Given the description of an element on the screen output the (x, y) to click on. 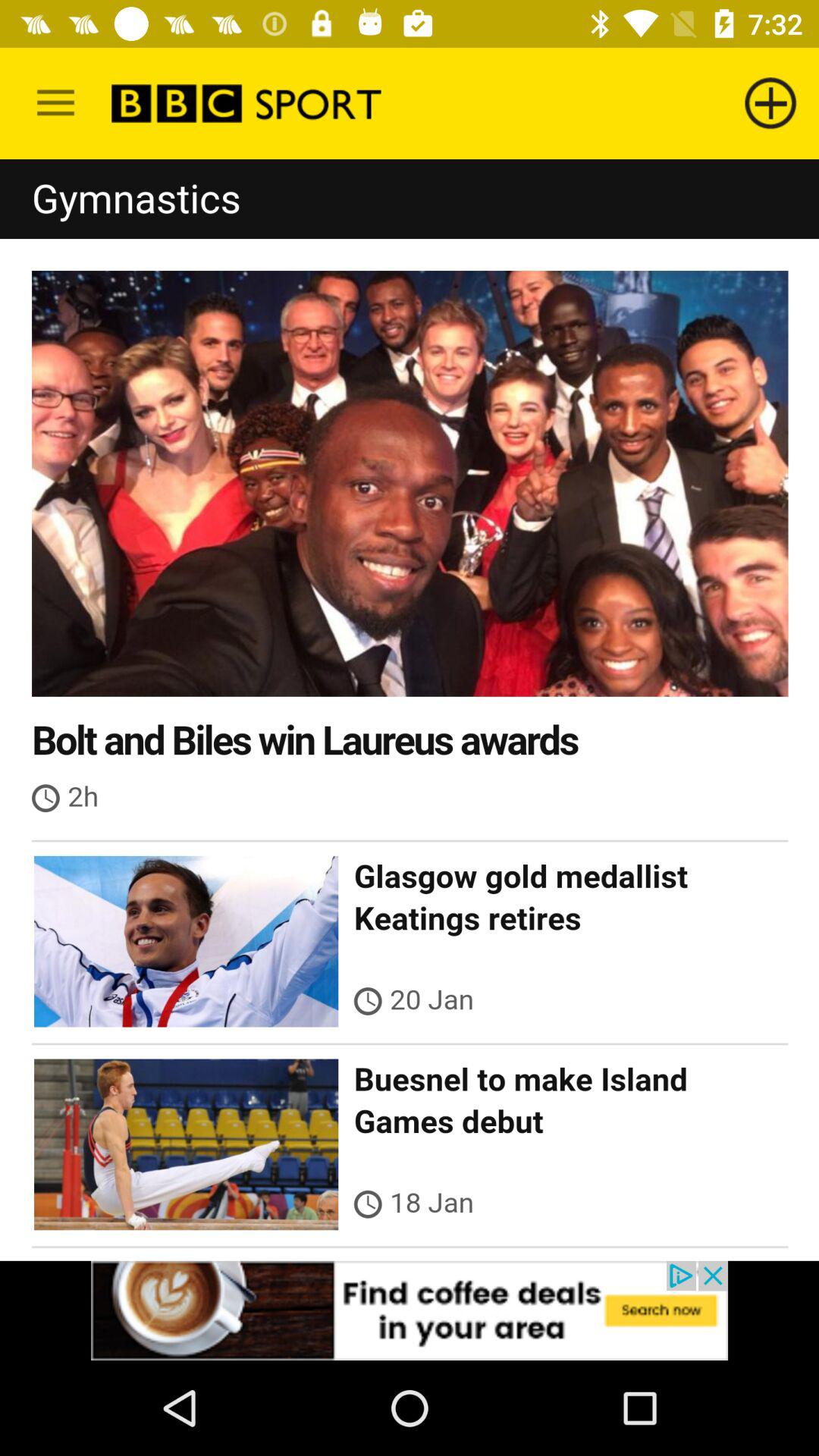
find coffee deals (409, 1310)
